Given the description of an element on the screen output the (x, y) to click on. 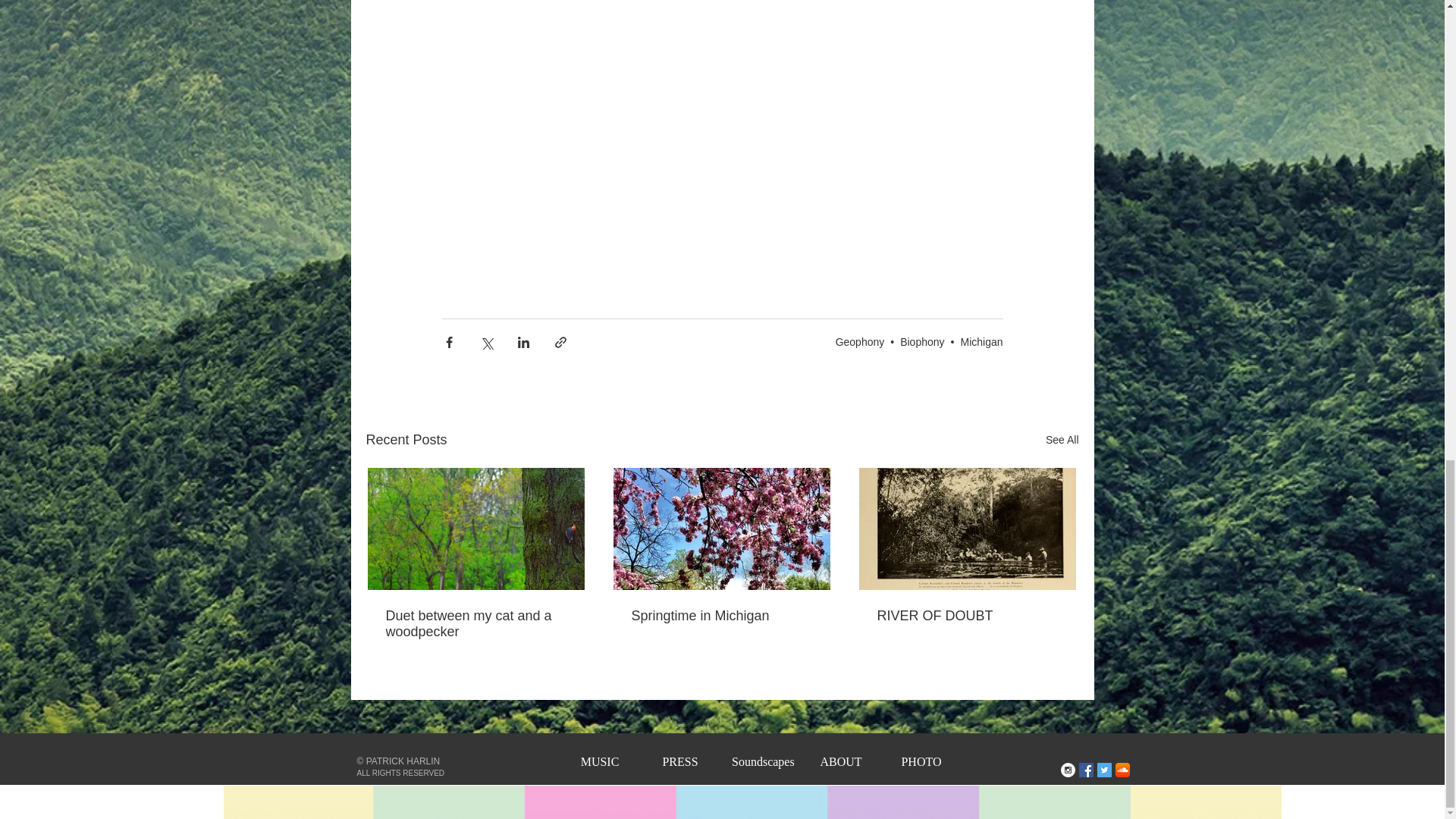
See All (1061, 440)
Biophony (921, 341)
Geophony (860, 341)
Michigan (981, 341)
